Given the description of an element on the screen output the (x, y) to click on. 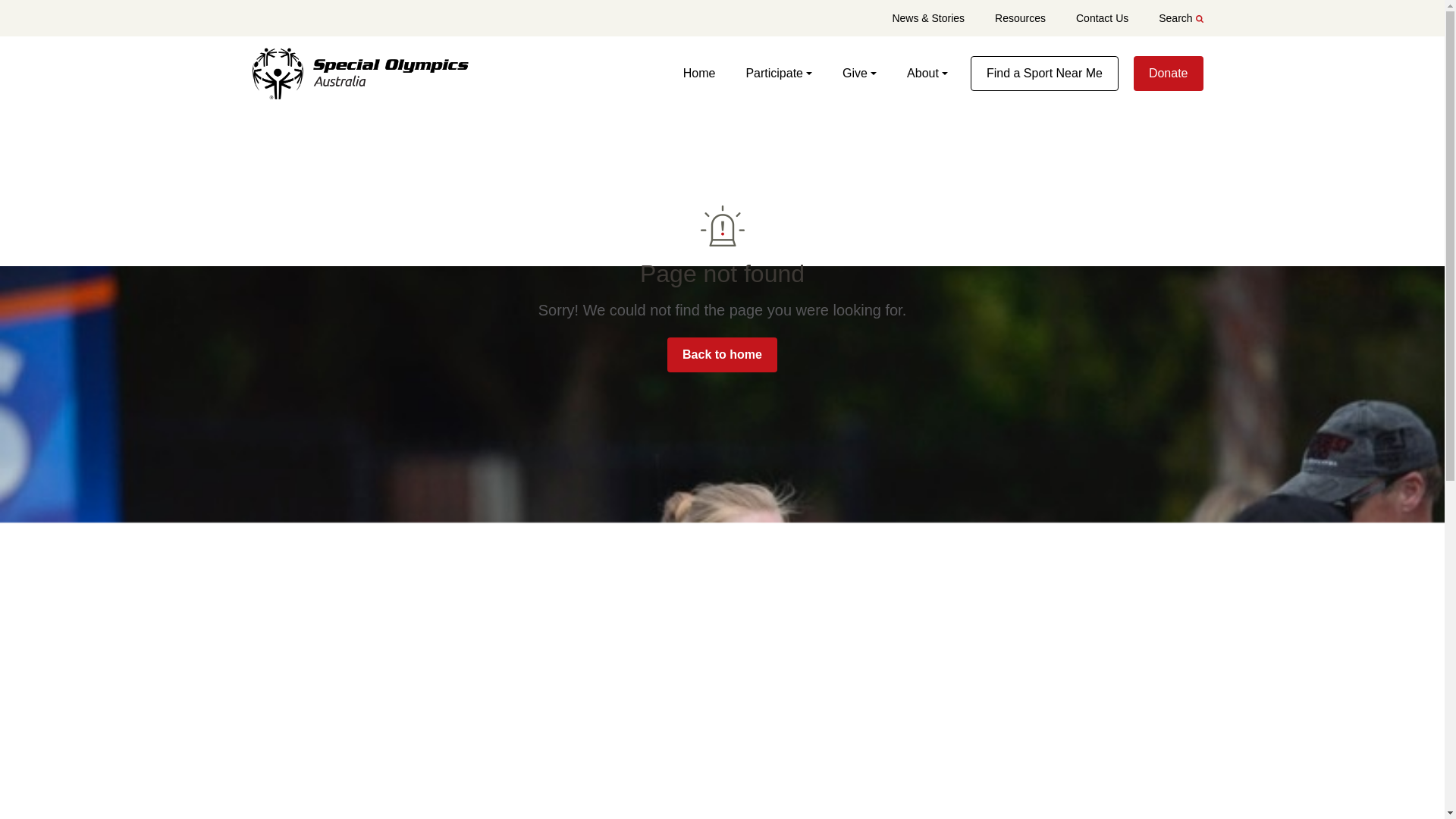
Participate (794, 73)
Resources (1004, 18)
About (934, 73)
Donate (1169, 73)
Contact Us (1086, 18)
Back to home (721, 354)
Give (875, 73)
Home (713, 73)
Find a Sport Near Me (1044, 73)
Search (1165, 18)
